Given the description of an element on the screen output the (x, y) to click on. 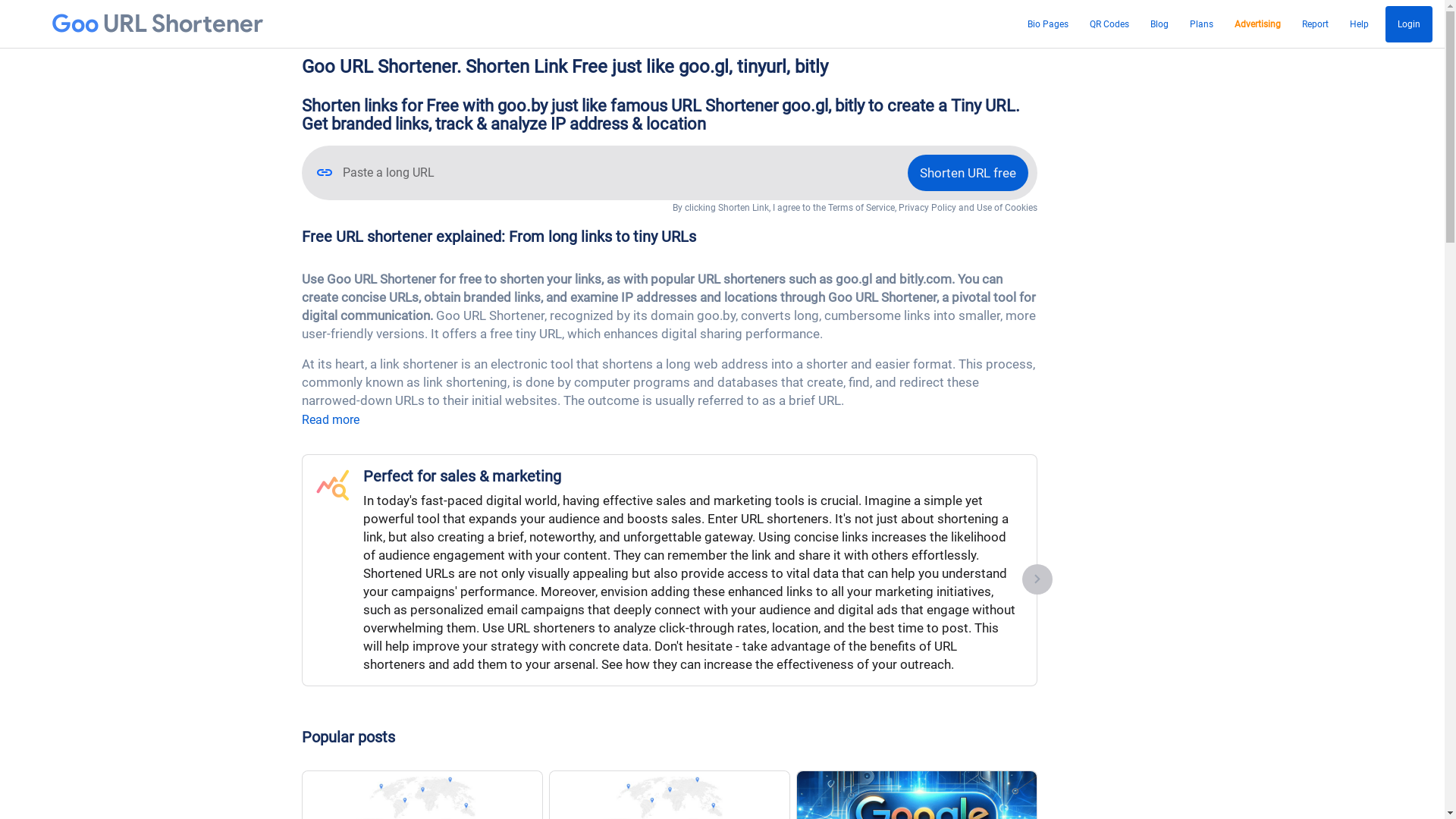
Report Element type: text (1315, 24)
QR Codes Element type: text (1109, 24)
Plans Element type: text (1201, 24)
Blog Element type: text (1159, 24)
Help Element type: text (1359, 24)
Shorten URL free Element type: text (966, 172)
Login Element type: text (1408, 24)
Bio Pages Element type: text (1047, 24)
Read more Element type: text (330, 419)
Advertising Element type: text (1257, 24)
